Given the description of an element on the screen output the (x, y) to click on. 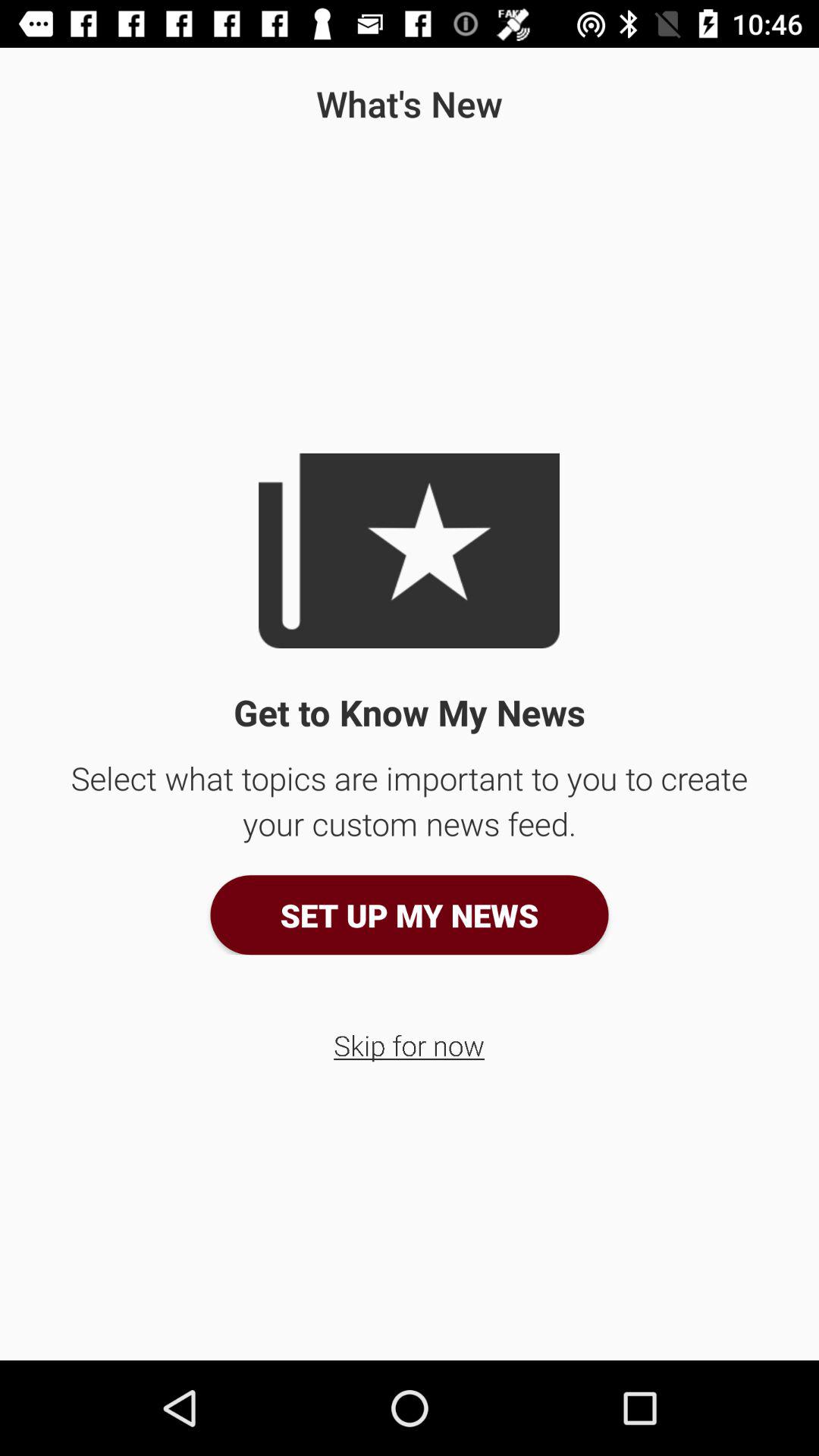
launch the button below the set up my button (409, 1044)
